Given the description of an element on the screen output the (x, y) to click on. 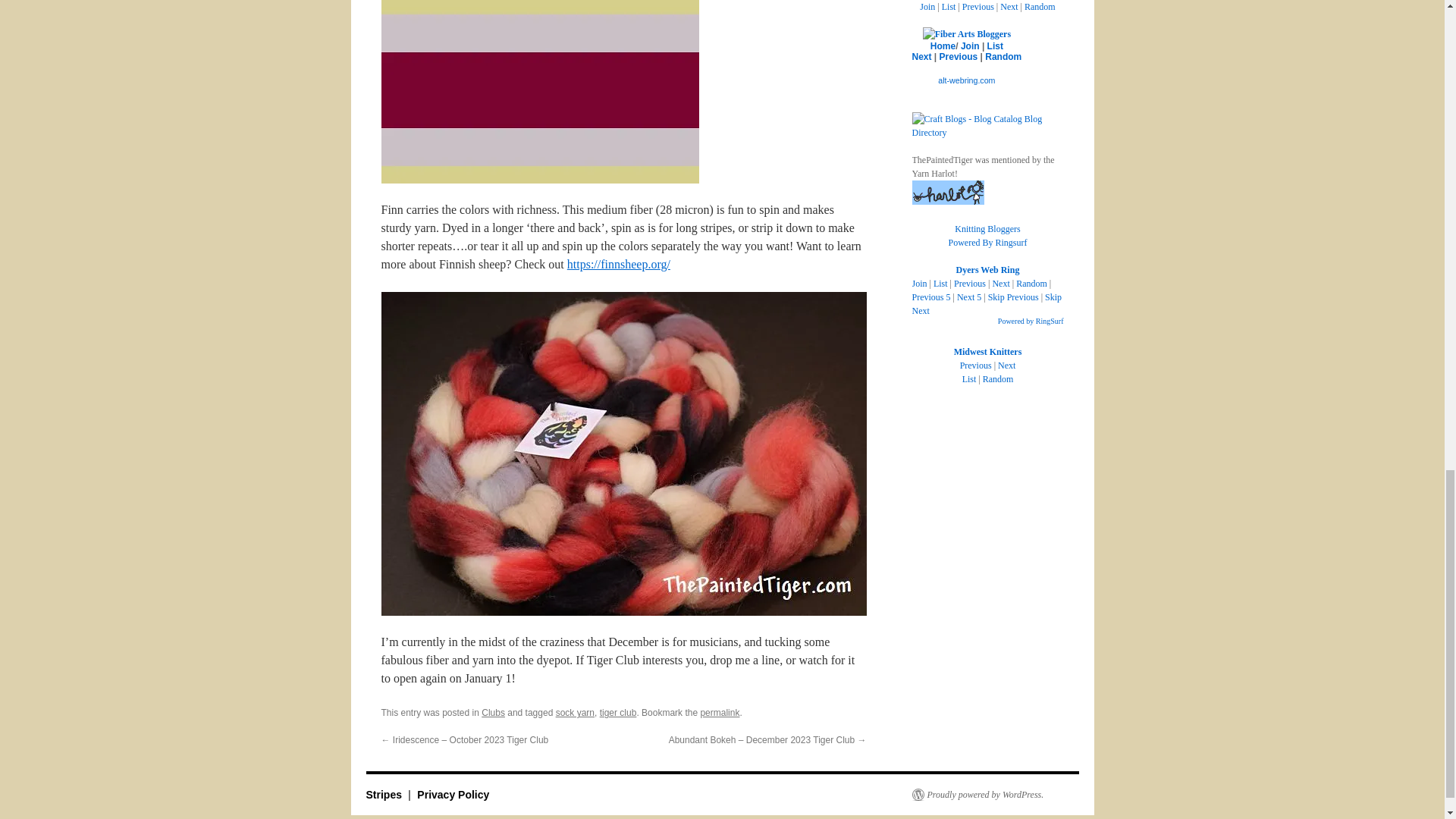
Go to the next site in this ring (921, 56)
View the list of sites in this ring (995, 45)
Clubs (493, 712)
View the ring home page (942, 45)
tiger club (618, 712)
permalink (719, 712)
sock yarn (575, 712)
